Given the description of an element on the screen output the (x, y) to click on. 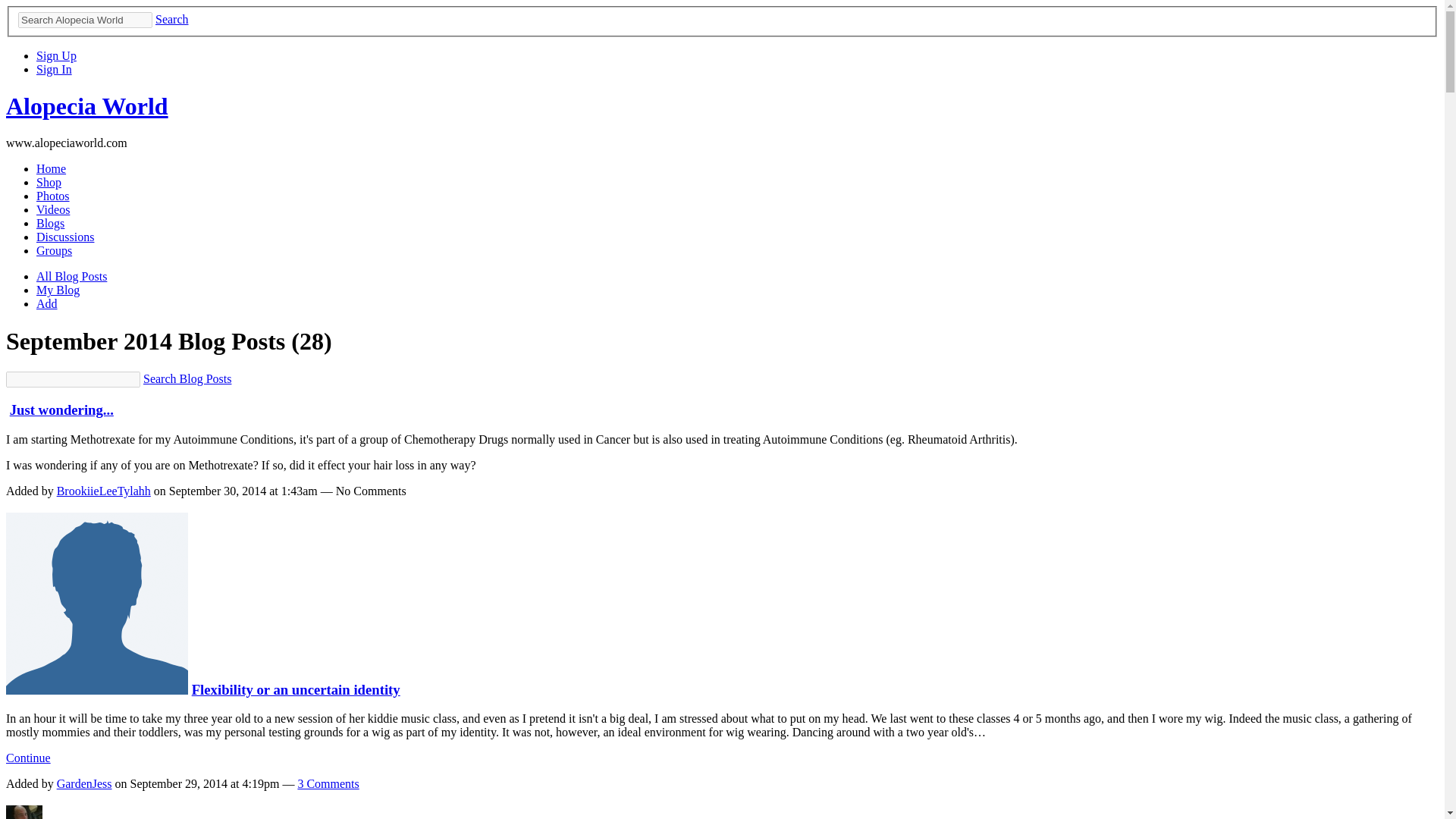
BrookiieLeeTylahh (103, 490)
GardenJess (84, 783)
Alopecia World (86, 105)
Sign Up (56, 55)
Search Alopecia World (84, 19)
Groups (53, 250)
Just wondering... (61, 409)
GardenJess (96, 688)
3 Comments (327, 783)
Shop (48, 182)
All Blog Posts (71, 276)
Discussions (65, 236)
Photos (52, 195)
Blogs (50, 223)
Add (47, 303)
